Given the description of an element on the screen output the (x, y) to click on. 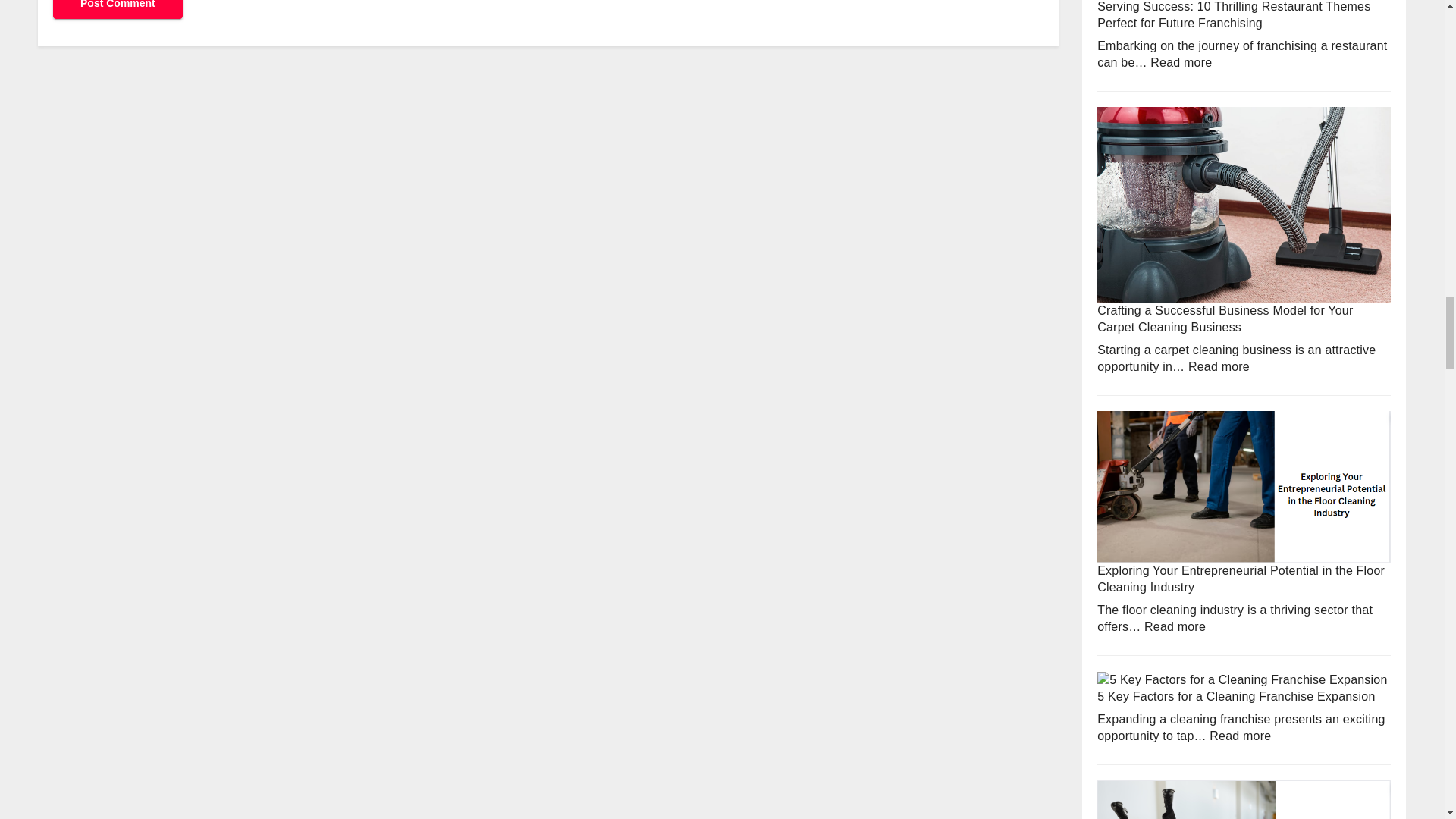
Post Comment (117, 9)
